Given the description of an element on the screen output the (x, y) to click on. 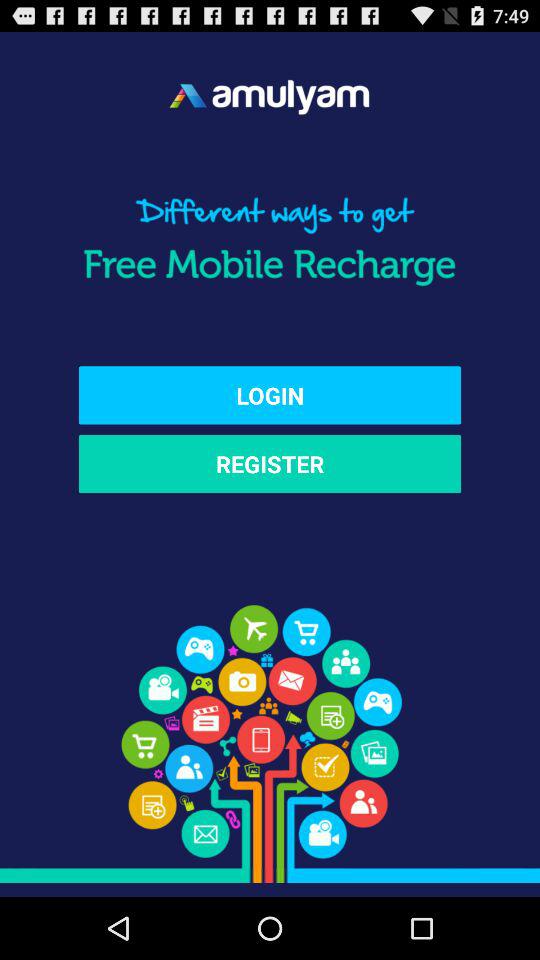
launch the login icon (269, 395)
